Given the description of an element on the screen output the (x, y) to click on. 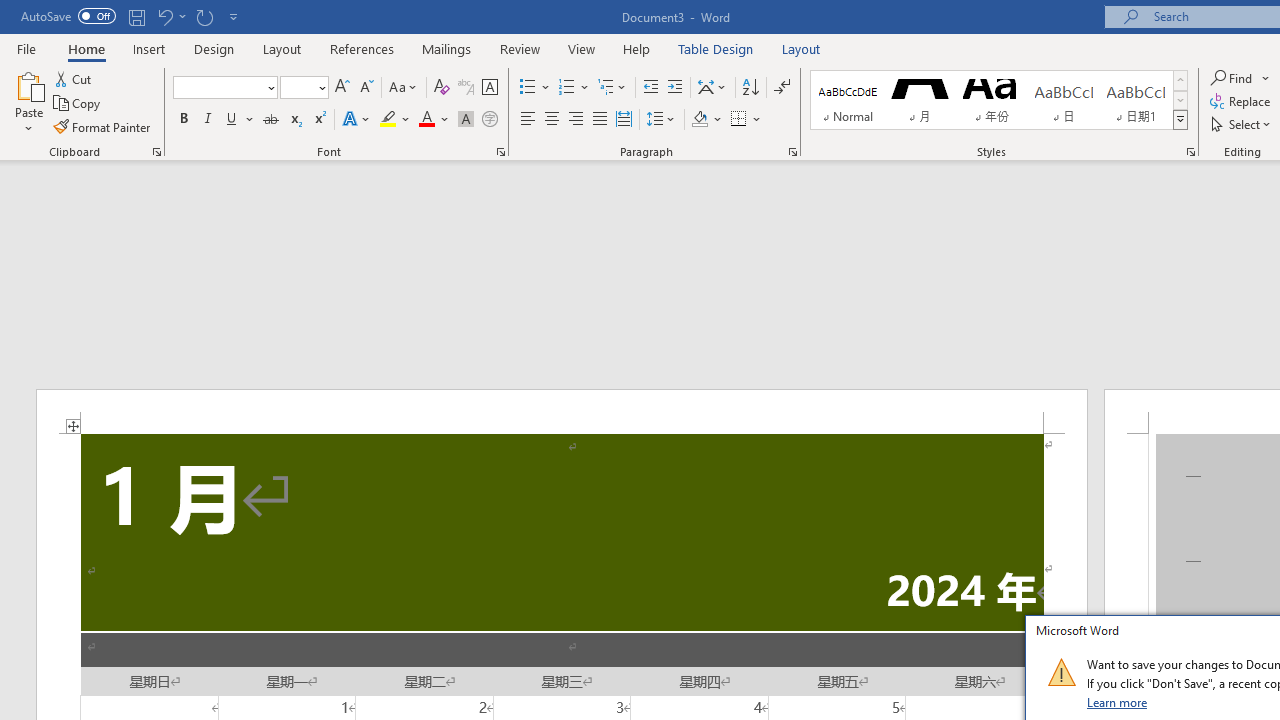
Row up (1179, 79)
Text Highlight Color (395, 119)
Table Design (715, 48)
Superscript (319, 119)
